Given the description of an element on the screen output the (x, y) to click on. 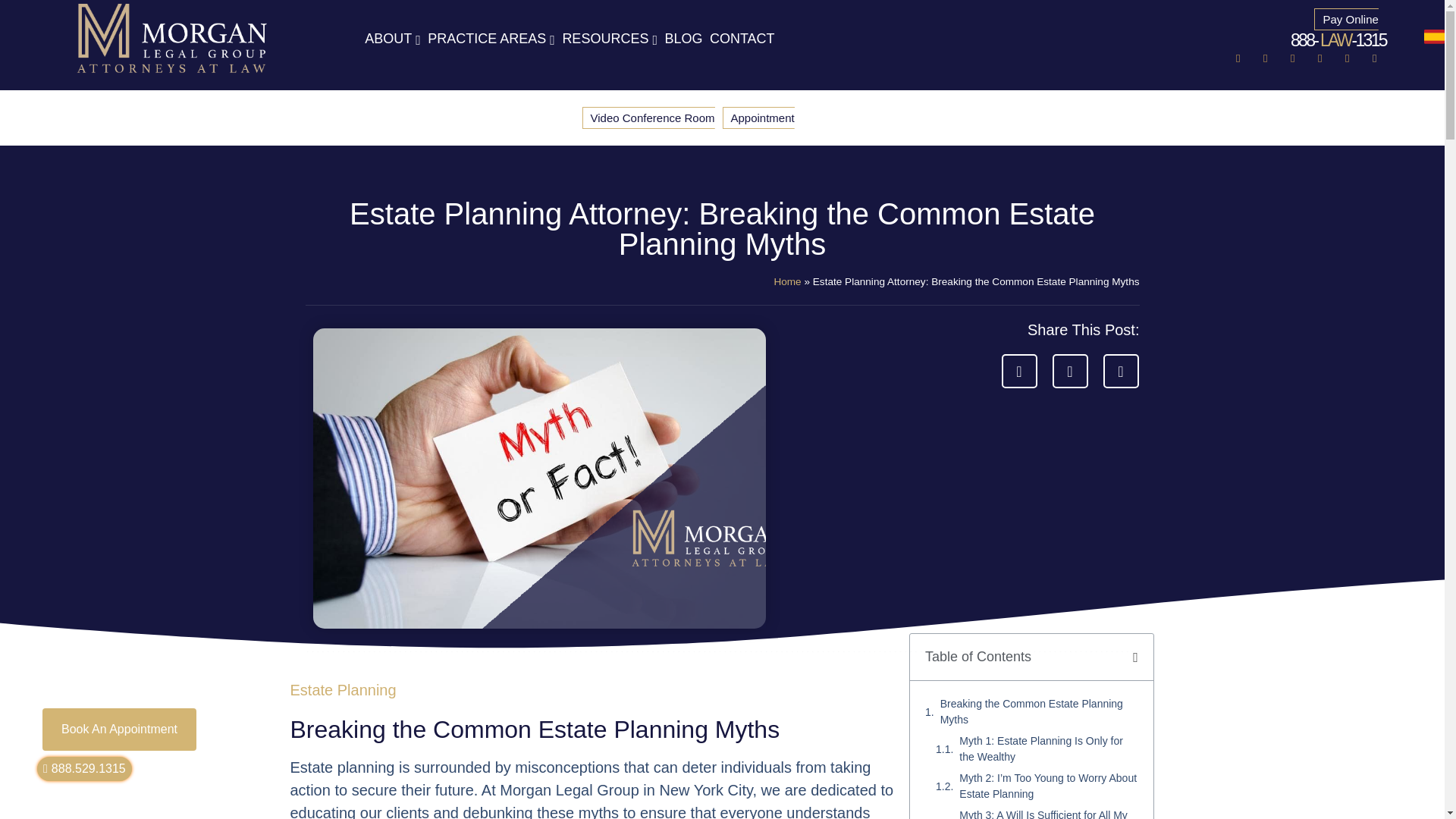
ABOUT (390, 38)
PRACTICE AREAS (488, 38)
